Given the description of an element on the screen output the (x, y) to click on. 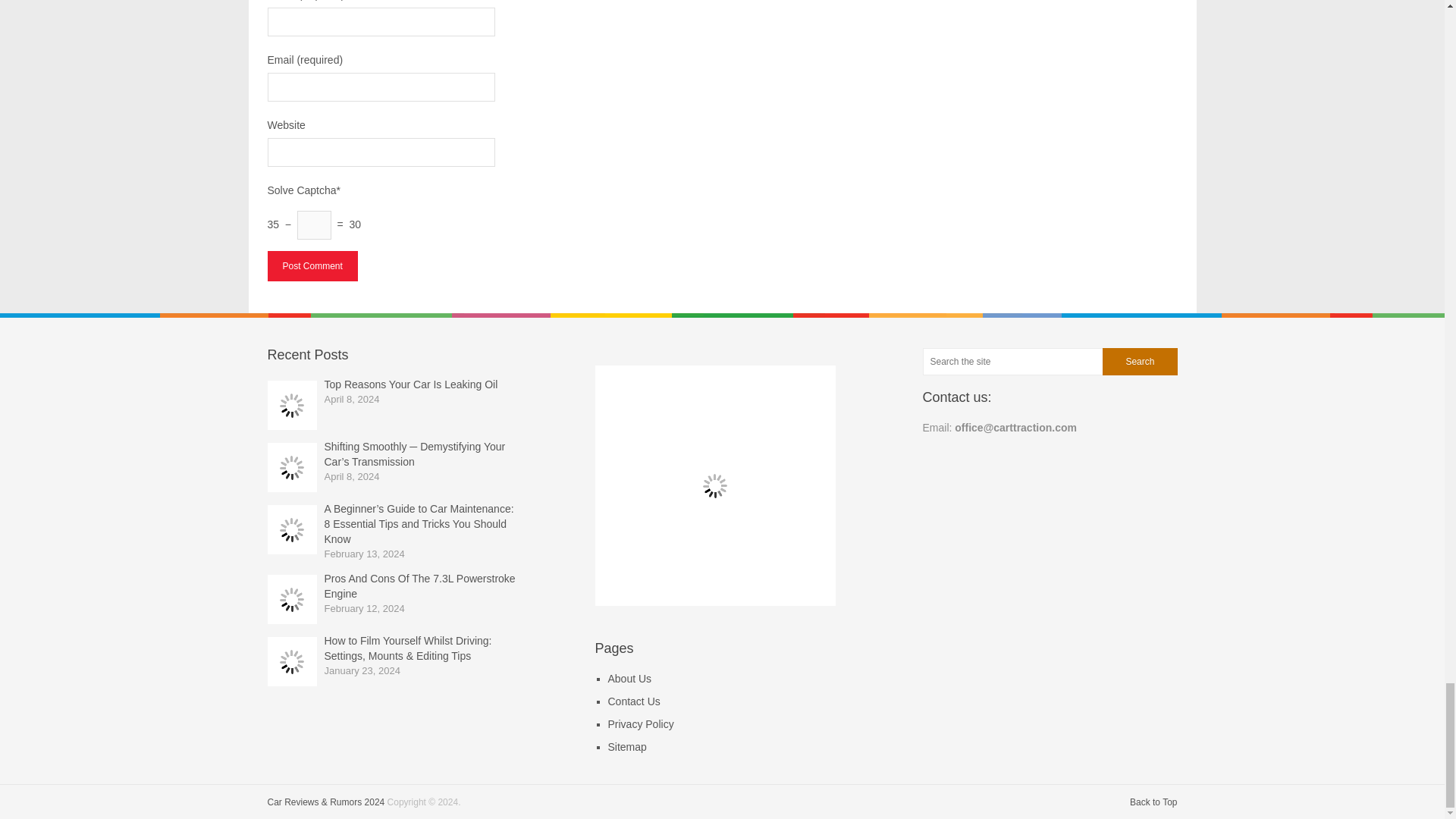
Post Comment (311, 265)
Post Comment (311, 265)
Search (1139, 361)
